Given the description of an element on the screen output the (x, y) to click on. 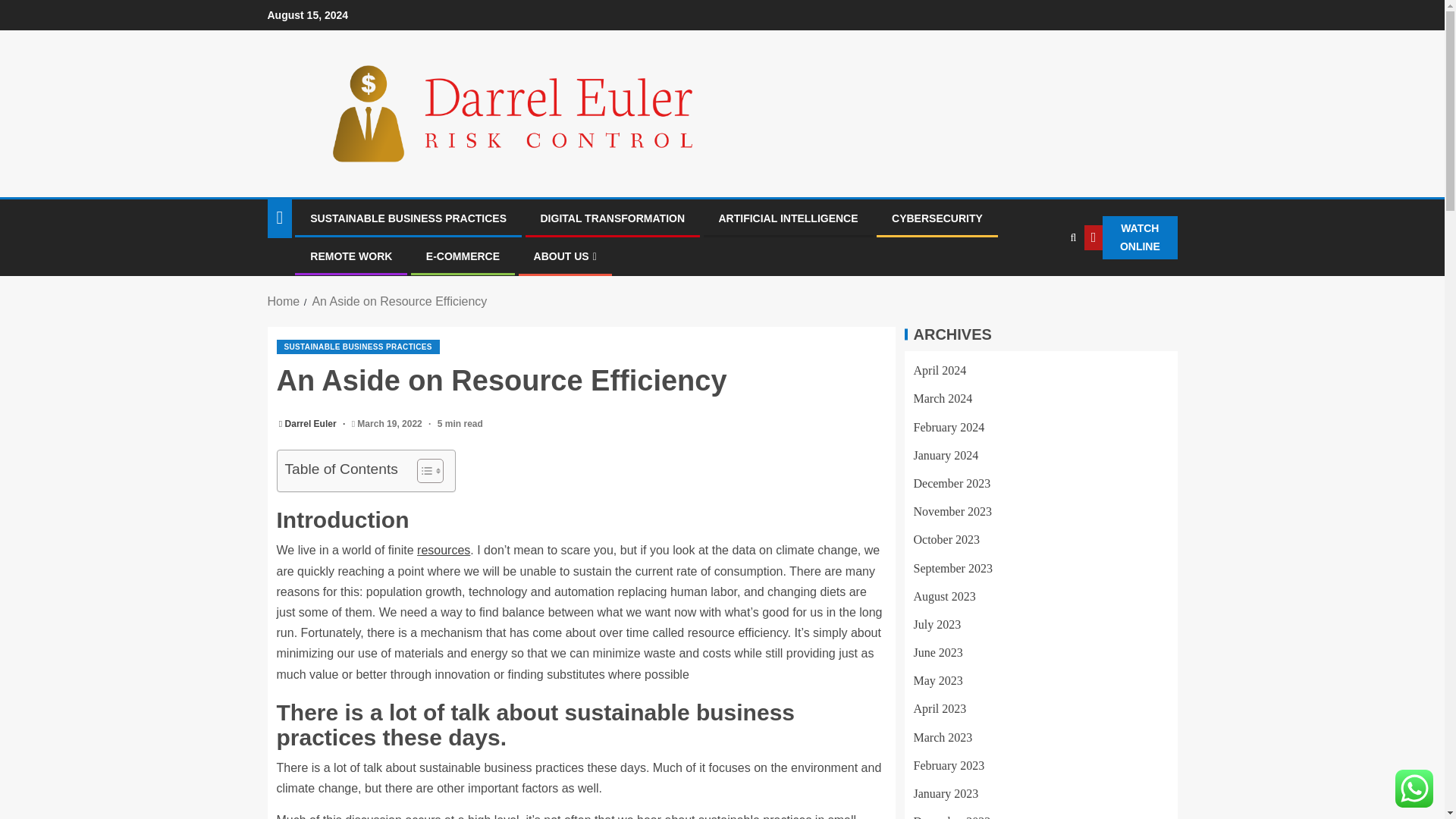
DIGITAL TRANSFORMATION (612, 218)
E-COMMERCE (462, 256)
CYBERSECURITY (936, 218)
Search (1041, 284)
WATCH ONLINE (1130, 238)
Home (282, 300)
SUSTAINABLE BUSINESS PRACTICES (357, 346)
REMOTE WORK (350, 256)
An Aside on Resource Efficiency (398, 300)
Darrel Euler (312, 423)
